Given the description of an element on the screen output the (x, y) to click on. 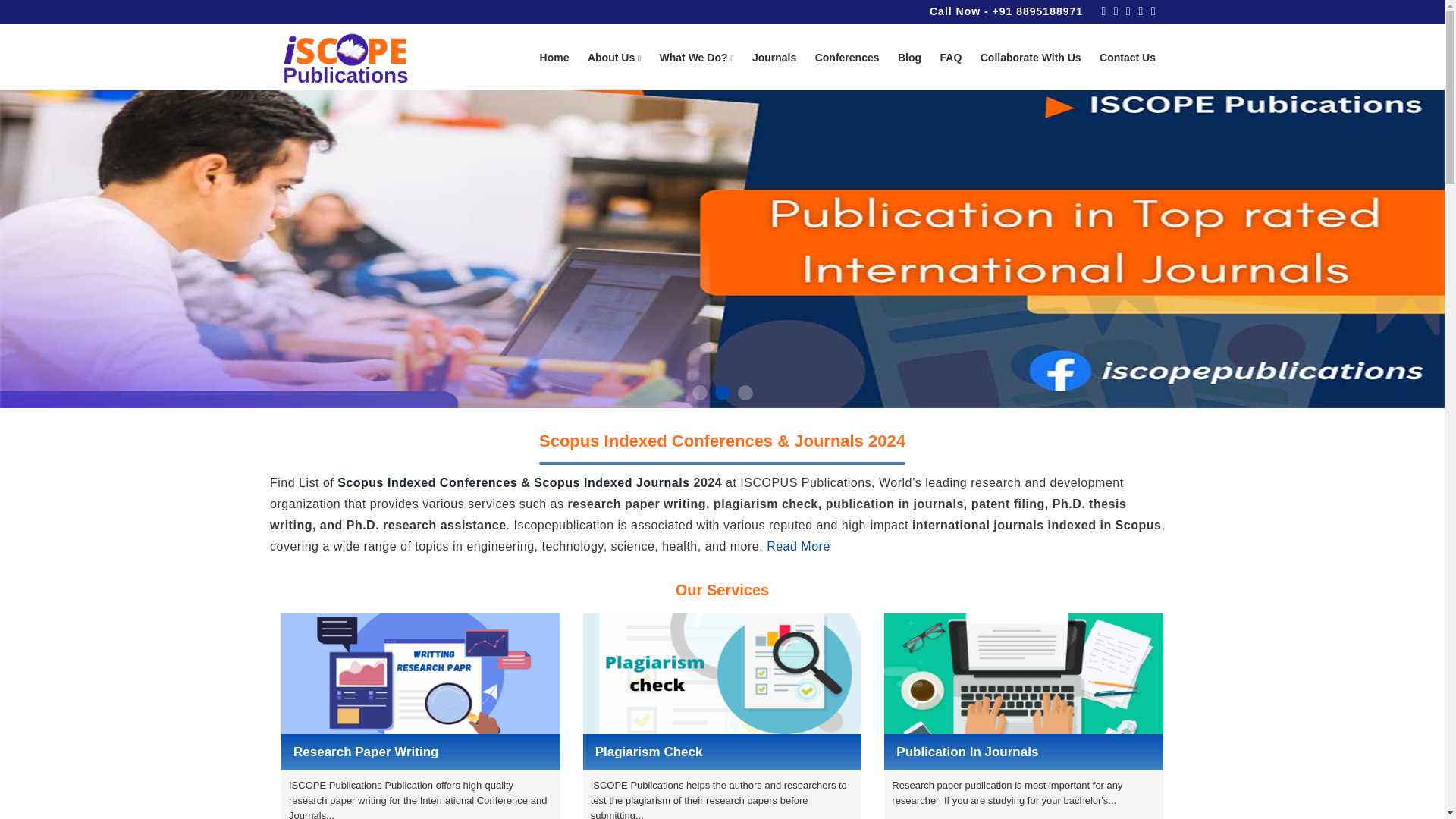
FAQ (951, 57)
What We Do? (696, 57)
3 (744, 392)
2 (721, 392)
Scopus Indexed Conferences (426, 481)
Contact Us (1127, 57)
1 (698, 392)
Home (554, 57)
Blog (909, 57)
Conferences (847, 57)
Read More (798, 545)
About Us (614, 57)
Journals (774, 57)
Scopus Indexed Journals (611, 481)
Collaborate With Us (1030, 57)
